Given the description of an element on the screen output the (x, y) to click on. 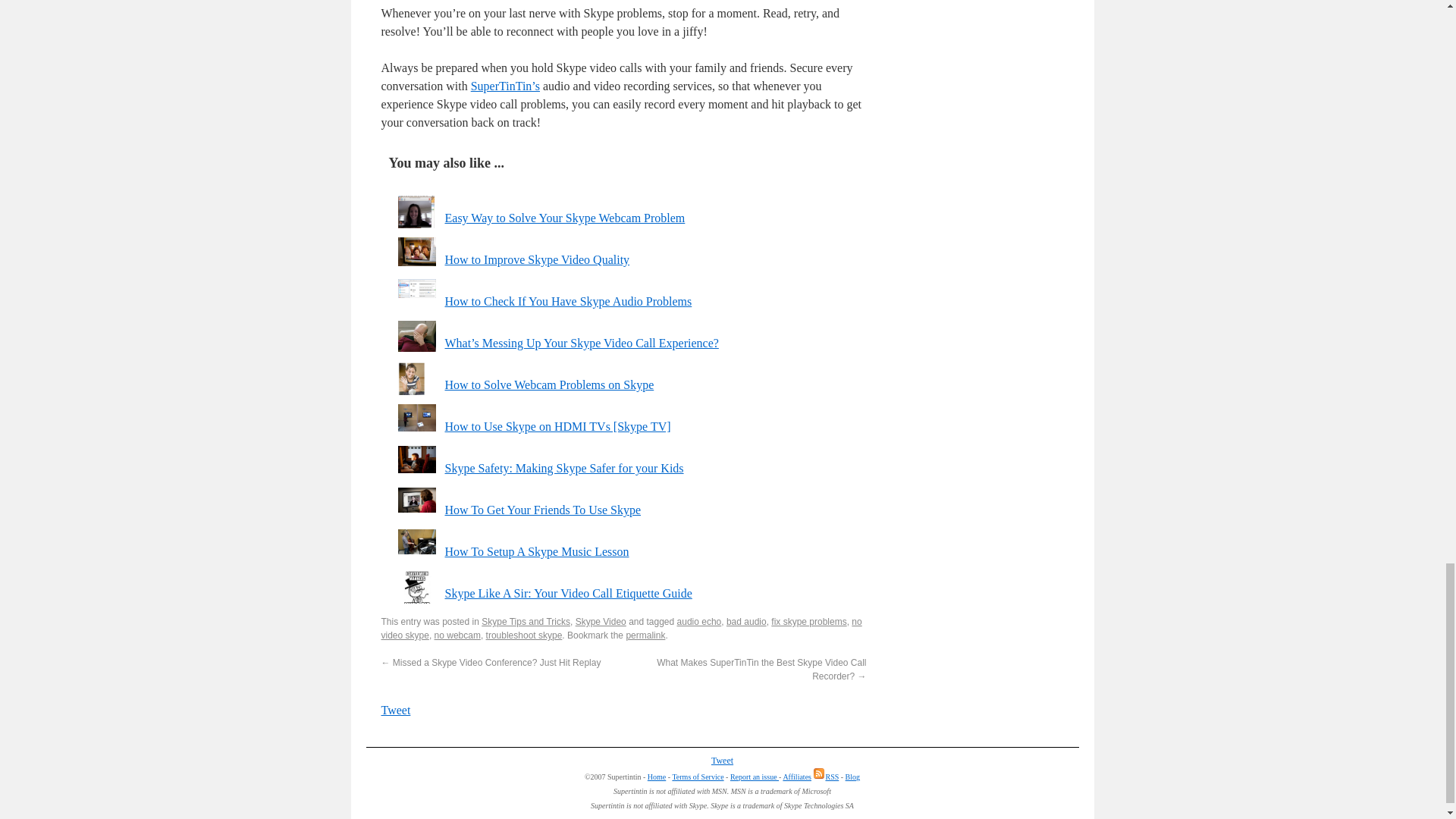
audio echo (699, 621)
Skype Video (600, 621)
Skype Safety: Making Skype Safer for your Kids (563, 468)
bad audio (746, 621)
no video skype (620, 628)
Skype Like A Sir: Your Video Call Etiquette Guide (567, 593)
How to Check If You Have Skype Audio Problems (567, 300)
fix skype problems (808, 621)
How to Improve Skype Video Quality (536, 259)
How To Setup A Skype Music Lesson (536, 551)
How To Get Your Friends To Use Skype (542, 509)
Easy Way to Solve Your Skype Webcam Problem (564, 217)
Skype Tips and Tricks (525, 621)
How to Solve Webcam Problems on Skype (548, 384)
